Given the description of an element on the screen output the (x, y) to click on. 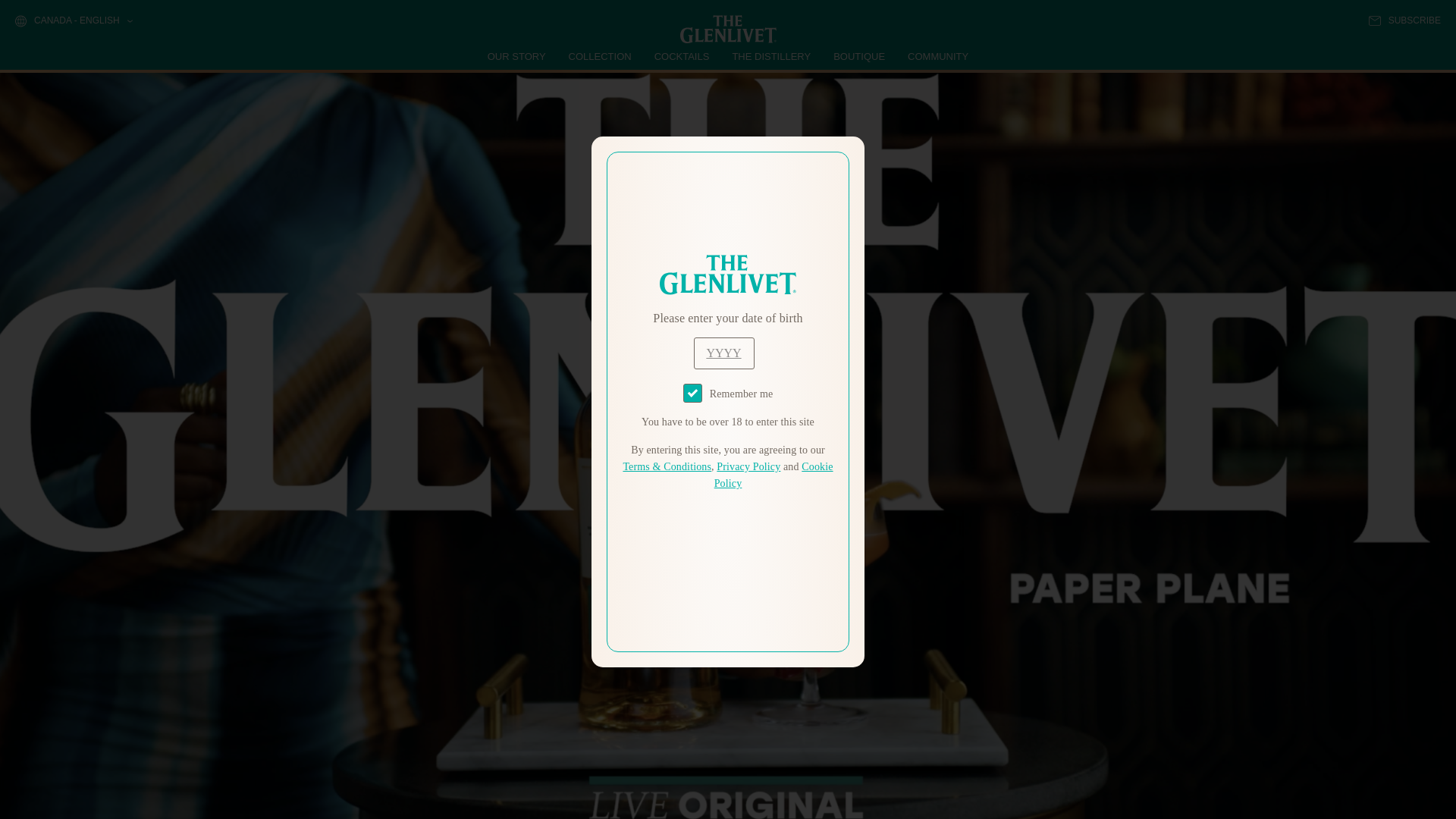
THE DISTILLERY (771, 56)
COLLECTION (600, 56)
COCKTAILS (681, 56)
Cookie Policy (773, 474)
CANADA - ENGLISH (73, 21)
year (723, 353)
OUR STORY (516, 56)
COMMUNITY (937, 56)
Privacy Policy (748, 466)
SUBSCRIBE (1404, 20)
BOUTIQUE (858, 56)
